Given the description of an element on the screen output the (x, y) to click on. 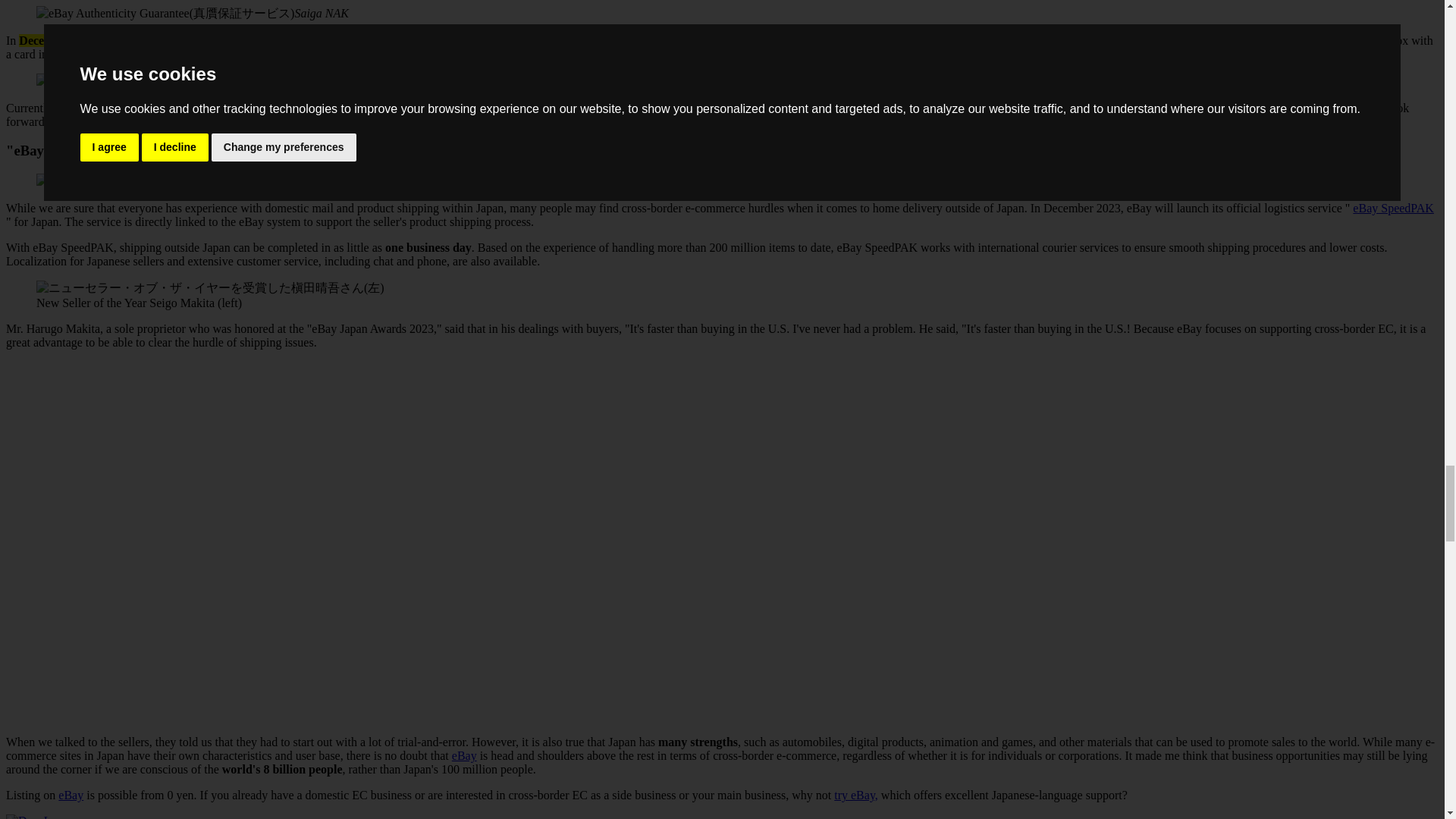
try eBay, (855, 794)
eBay (70, 794)
eBay (464, 755)
eBay (234, 180)
